Given the description of an element on the screen output the (x, y) to click on. 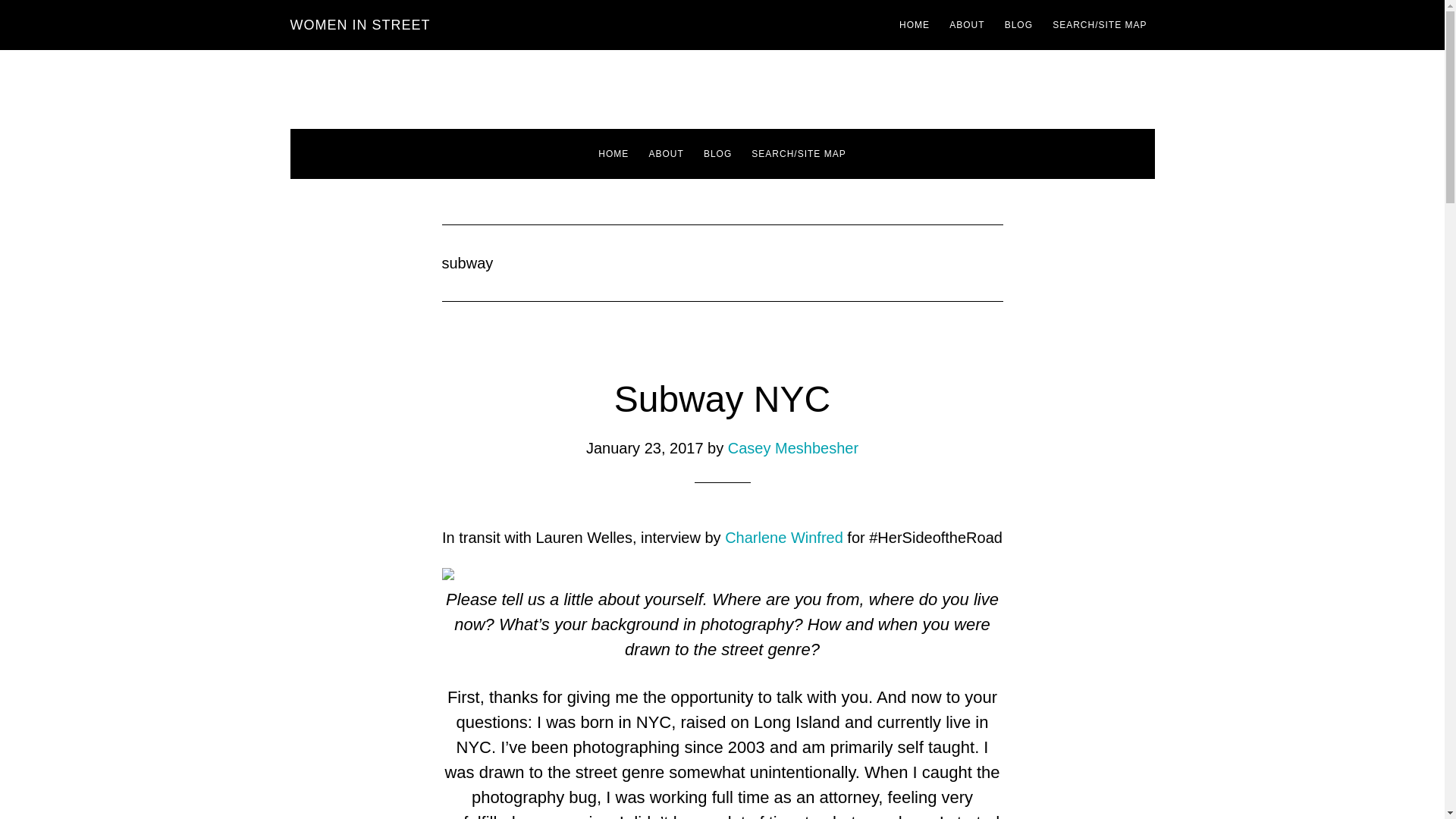
HOME (914, 24)
WOMEN IN STREET (359, 24)
BLOG (717, 153)
ABOUT (966, 24)
Charlene Winfred (784, 537)
Casey Meshbesher (793, 447)
HOME (613, 153)
ABOUT (665, 153)
Subway NYC (721, 399)
BLOG (1019, 24)
